Given the description of an element on the screen output the (x, y) to click on. 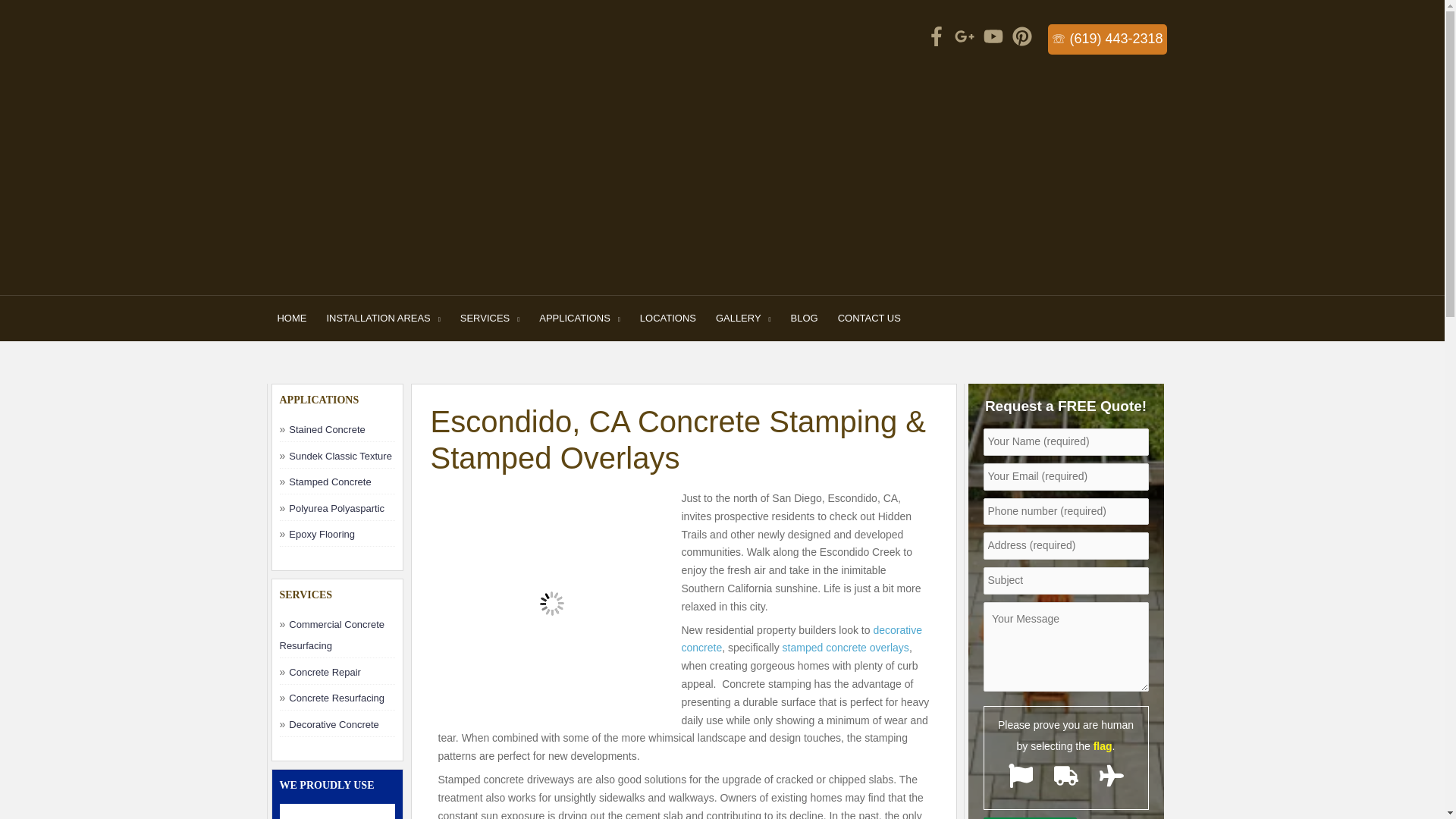
Submit (1029, 818)
LOCATIONS (668, 318)
HOME (290, 318)
INSTALLATION AREAS (382, 318)
SERVICES (489, 318)
GALLERY (743, 318)
APPLICATIONS (579, 318)
